Given the description of an element on the screen output the (x, y) to click on. 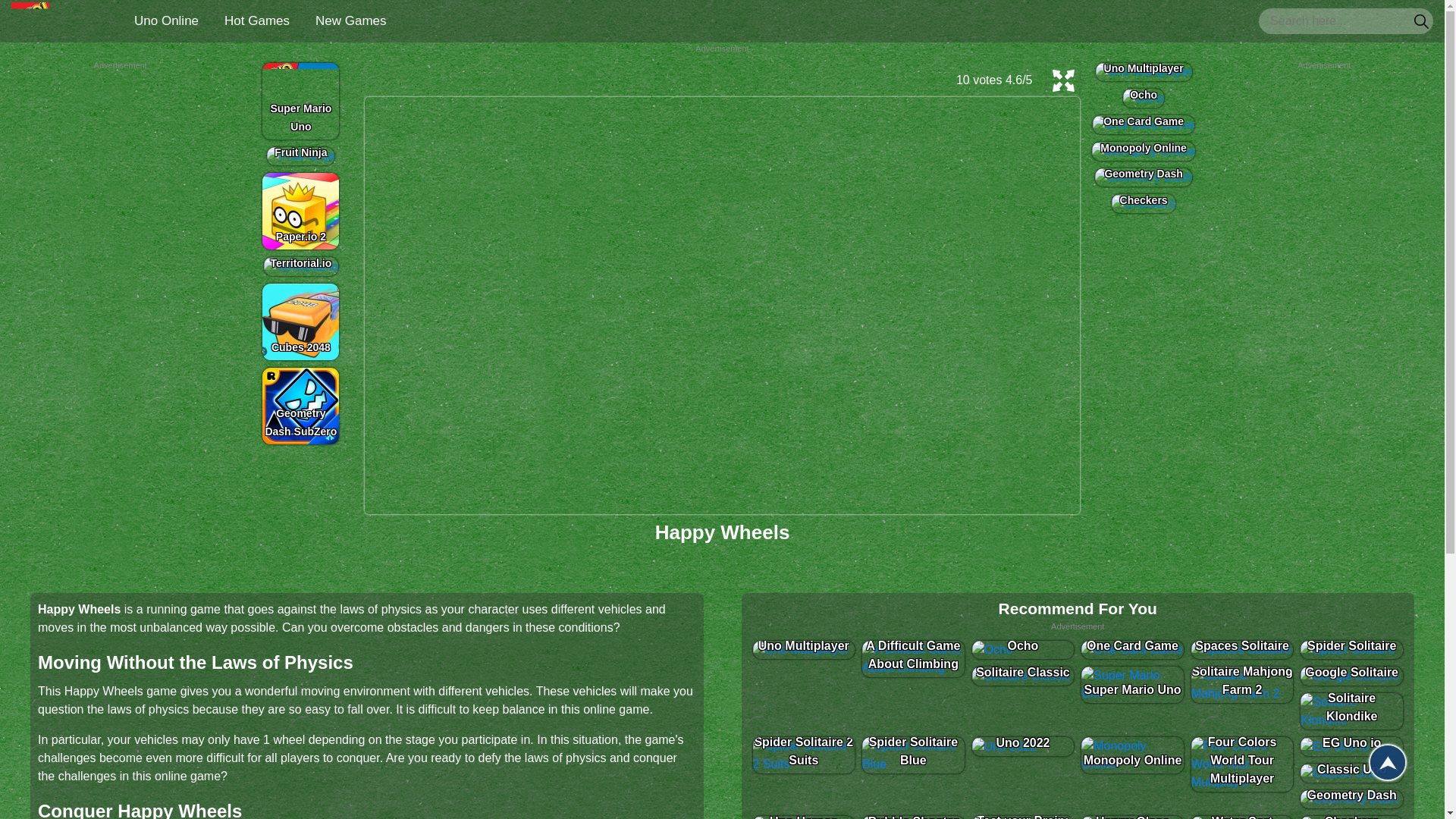
Territorial.io (301, 266)
Uno Online (166, 20)
Geometry Dash SubZero (300, 405)
Geometry Dash SubZero (300, 405)
Uno Multiplayer (1144, 72)
Uno Online (30, 21)
Paper.io 2 (300, 210)
One Card Game (1132, 649)
Uno Multiplayer (804, 649)
Super Mario Uno (300, 100)
A Difficult Game About Climbing (913, 657)
Fruit Ninja (300, 156)
New Games (350, 20)
Cubes 2048 (300, 321)
Monopoly Online (1142, 150)
